Given the description of an element on the screen output the (x, y) to click on. 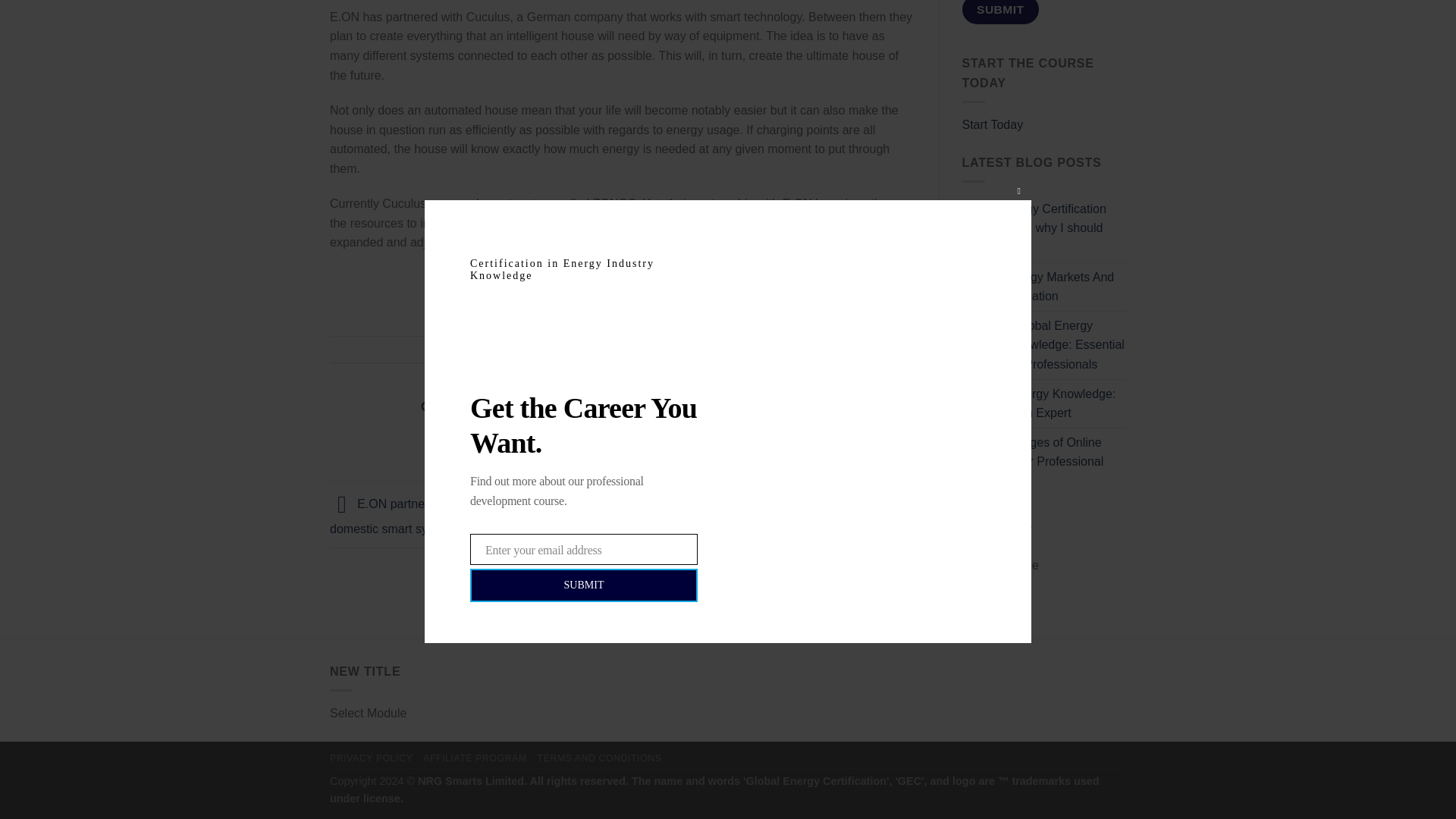
Submit (999, 12)
